Given the description of an element on the screen output the (x, y) to click on. 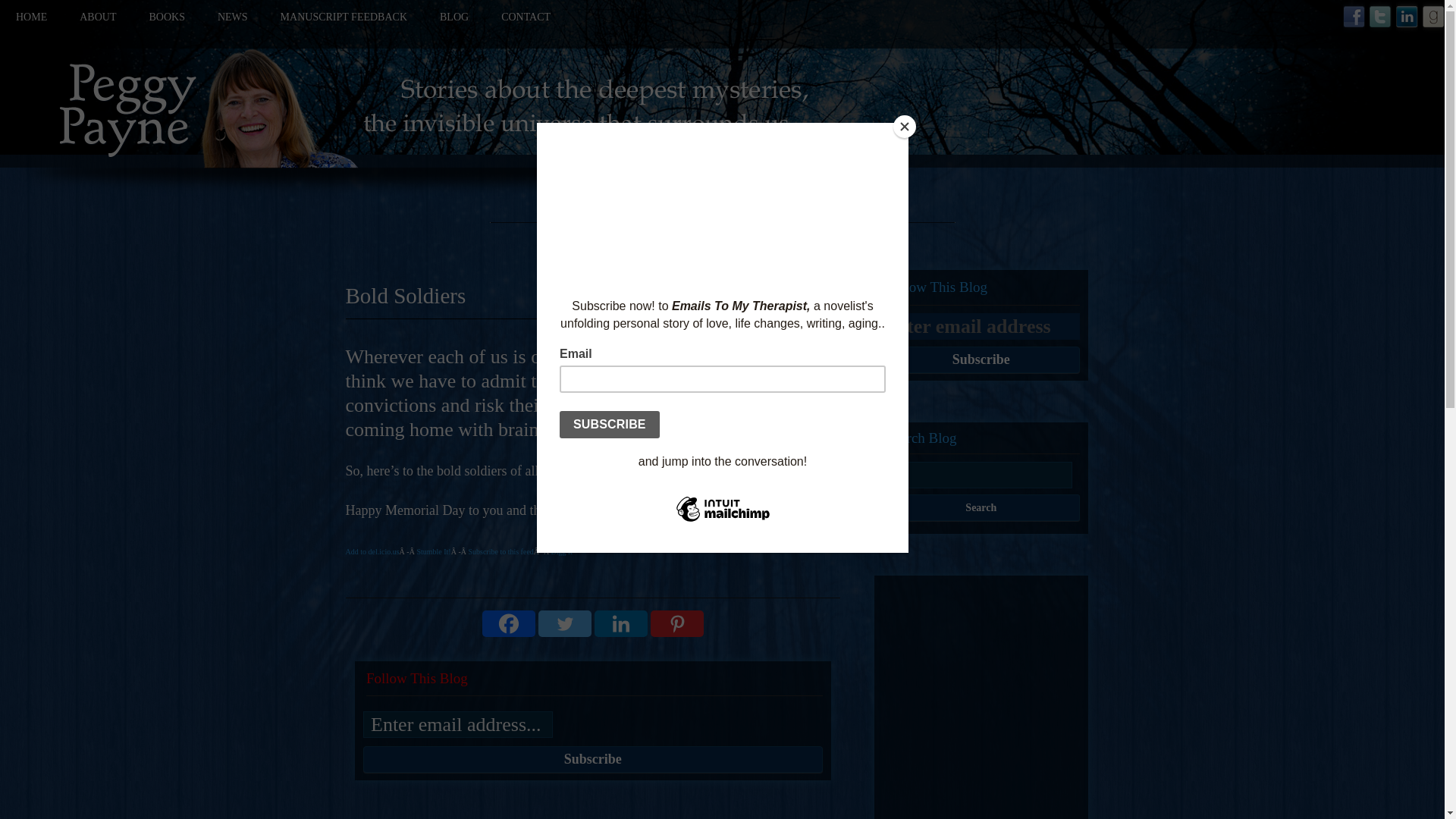
Search (980, 507)
Subscribe (980, 359)
CONTACT (525, 24)
Digg it (561, 551)
NEWS (232, 24)
Add to del.icio.us (372, 551)
Subscribe to this feed (499, 551)
ABOUT (98, 24)
Twitter (564, 622)
Linkedin (620, 622)
BOOKS (166, 24)
HOME (31, 24)
Enter email address... (457, 724)
BLOG (453, 24)
Subscribe (980, 359)
